Given the description of an element on the screen output the (x, y) to click on. 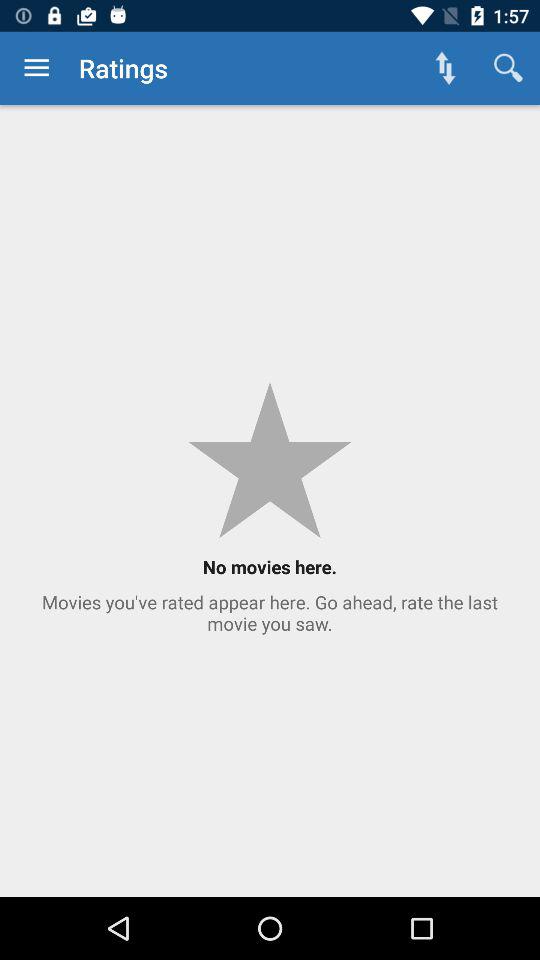
choose icon above the movies you ve (508, 67)
